Given the description of an element on the screen output the (x, y) to click on. 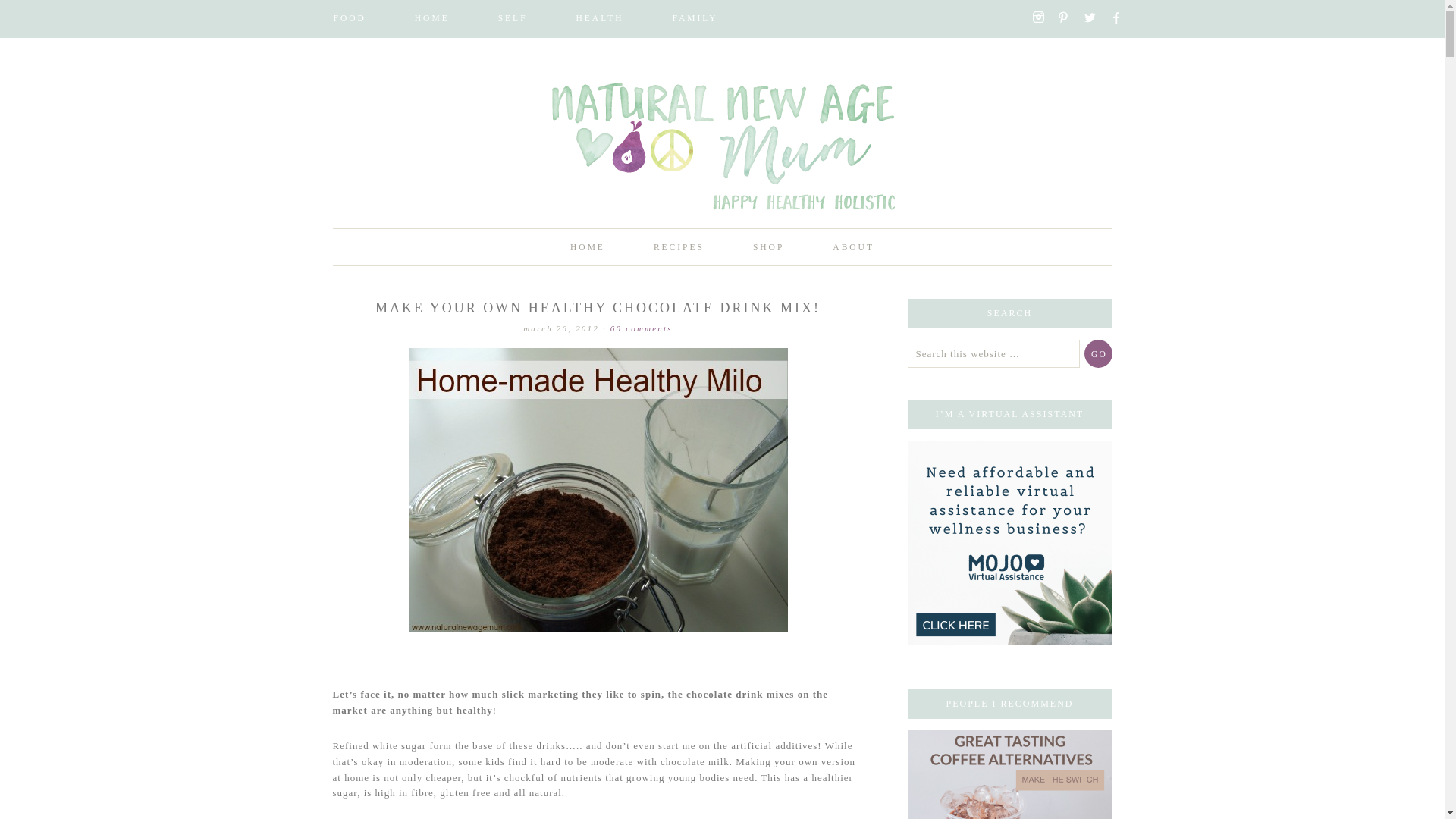
HOME (587, 247)
GO (1098, 353)
FAMILY (694, 18)
HOME (432, 18)
SHOP (768, 247)
Twitter (1094, 17)
60 comments (641, 327)
HEALTH (599, 18)
FOOD (349, 18)
RECIPES (678, 247)
SELF (512, 18)
NATURAL NEW AGE MUM (721, 159)
Pinterest (1069, 17)
Facebook (1121, 17)
Instagram (1043, 17)
